Given the description of an element on the screen output the (x, y) to click on. 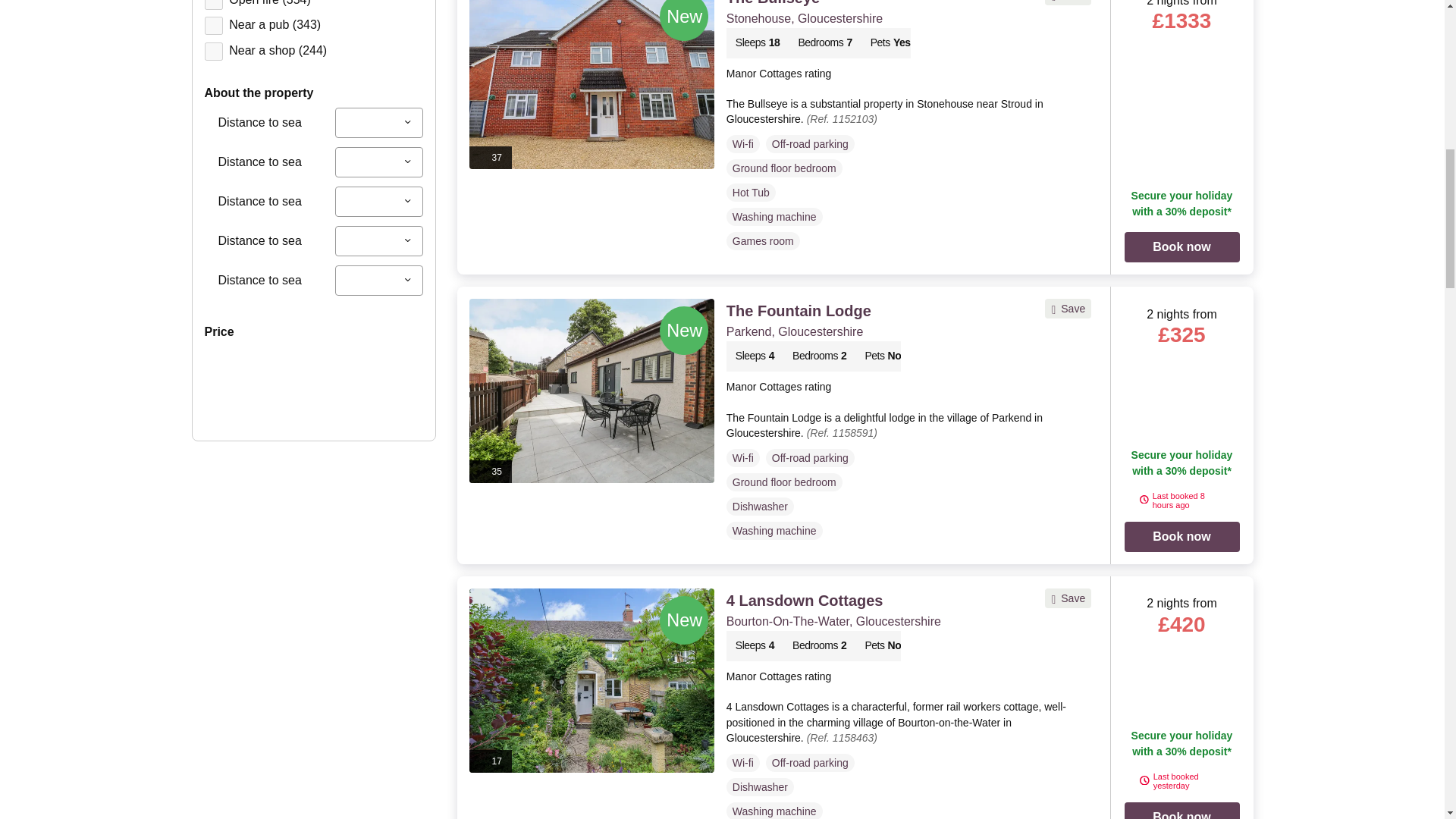
Save (1067, 308)
This property has off-road parking (809, 144)
This property has a ground floor bedroom (784, 482)
This property has a ground floor bedroom (784, 167)
This property has a dishwasher (759, 506)
This property has a games room (762, 240)
This property has a washing machine (774, 217)
This property has a hot tub (751, 192)
1 (213, 4)
This property has off-road parking (809, 457)
